Given the description of an element on the screen output the (x, y) to click on. 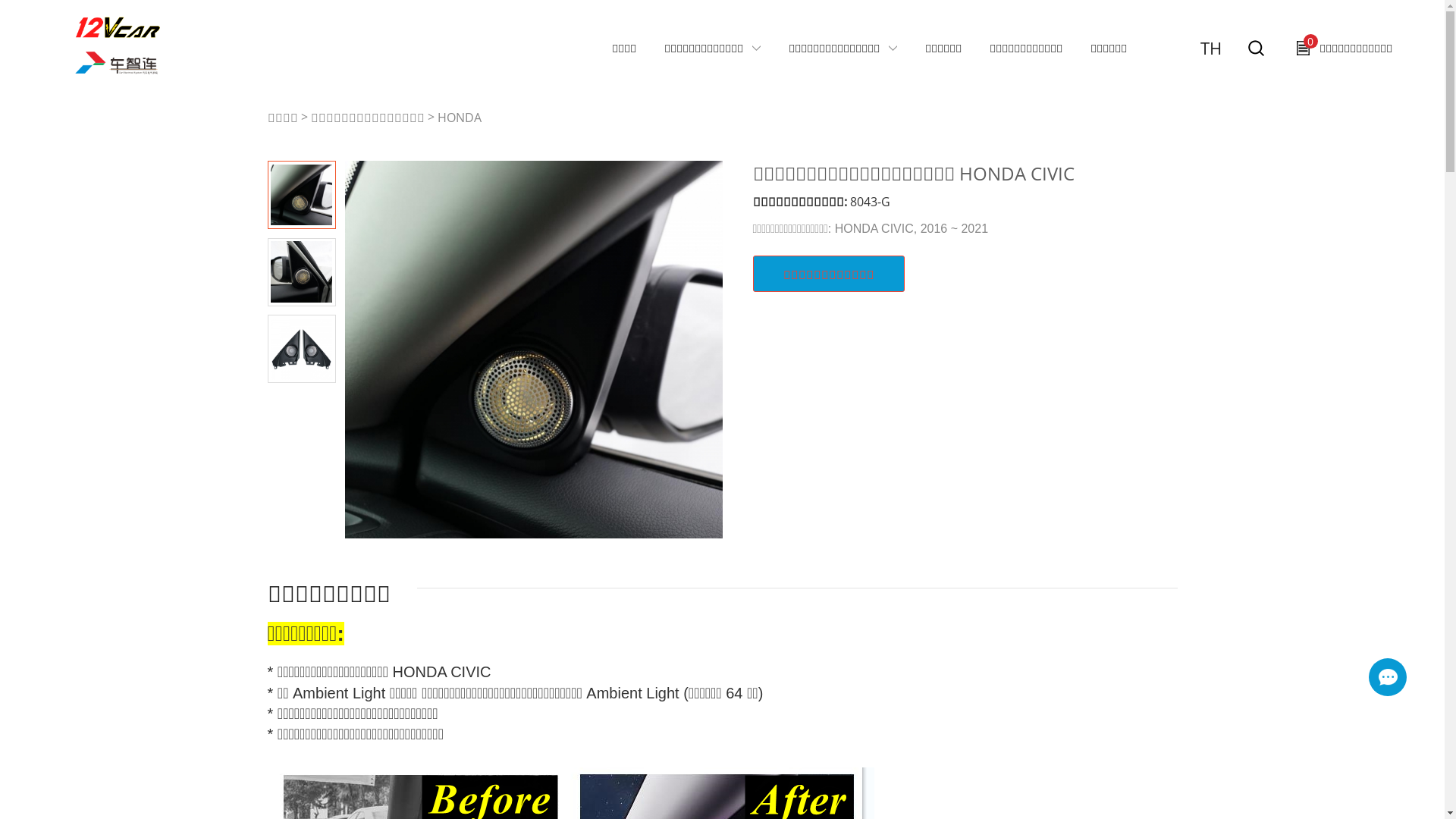
HONDA Element type: text (458, 117)
